Given the description of an element on the screen output the (x, y) to click on. 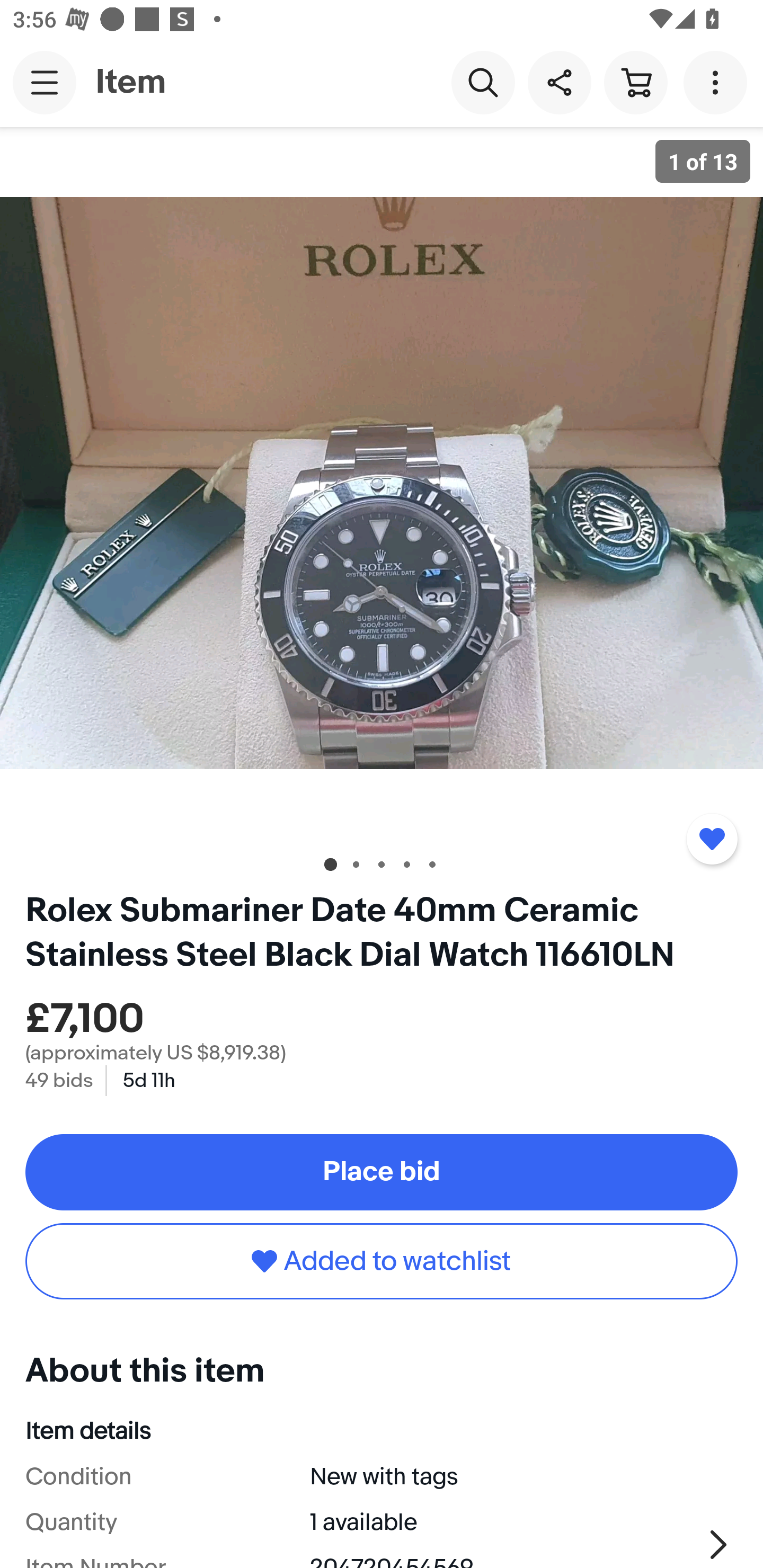
Main navigation, open (44, 82)
Search (482, 81)
Share this item (559, 81)
Cart button shopping cart (635, 81)
More options (718, 81)
Item image 1 of 13 (381, 482)
Added to watchlist (711, 838)
Place bid (381, 1171)
Added to watchlist (381, 1261)
